Given the description of an element on the screen output the (x, y) to click on. 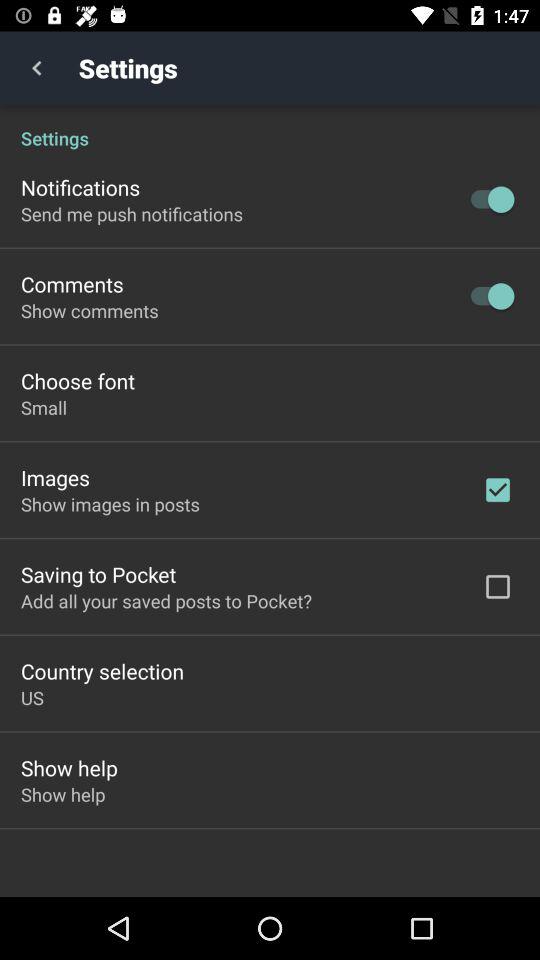
launch icon to the left of settings item (36, 68)
